Given the description of an element on the screen output the (x, y) to click on. 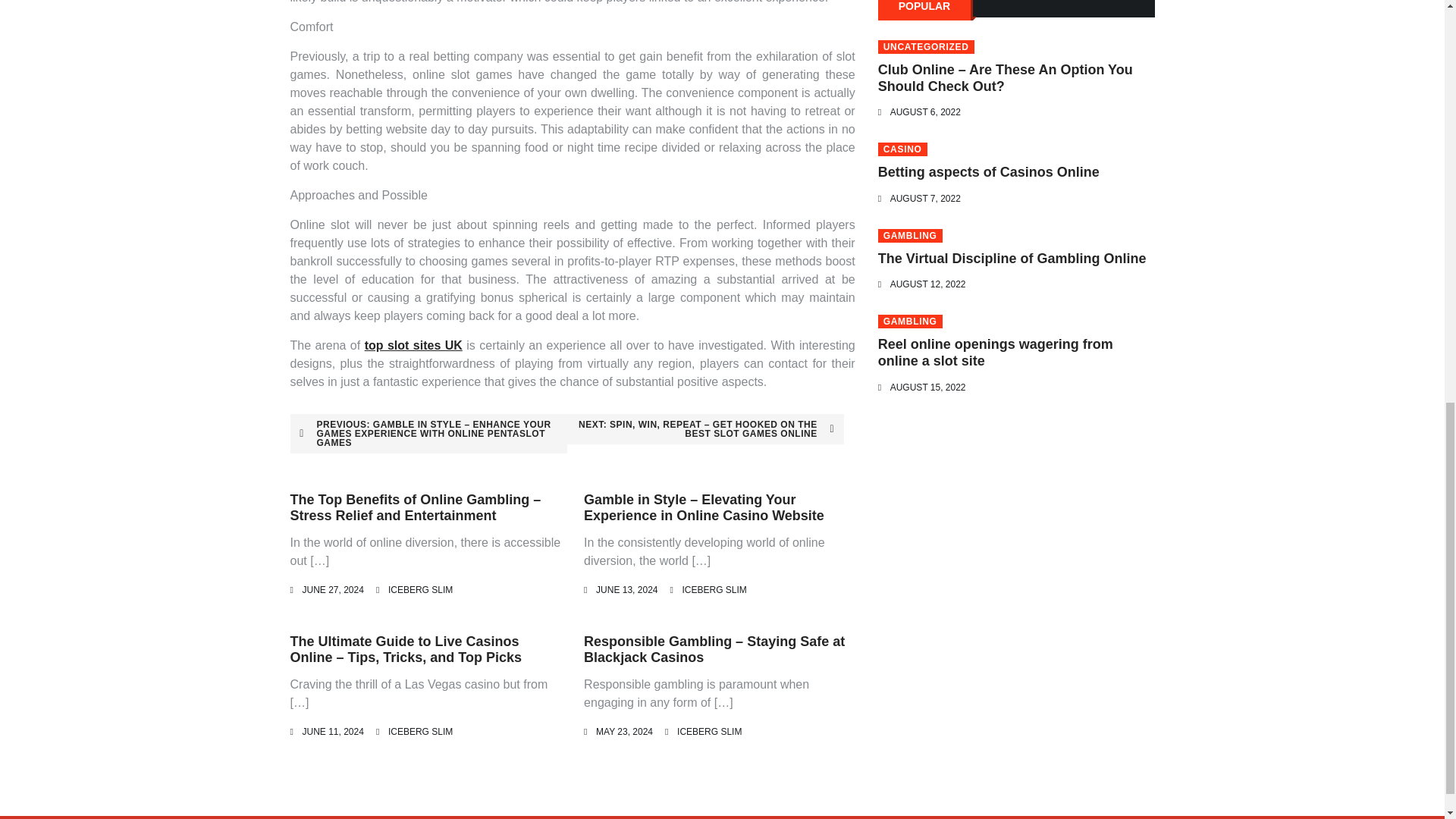
top slot sites UK (414, 345)
ICEBERG SLIM (420, 589)
AUGUST 6, 2022 (924, 112)
ICEBERG SLIM (713, 589)
UNCATEGORIZED (925, 47)
MAY 23, 2024 (623, 731)
JUNE 13, 2024 (626, 589)
ICEBERG SLIM (709, 731)
JUNE 11, 2024 (331, 731)
ICEBERG SLIM (420, 731)
JUNE 27, 2024 (331, 589)
